Given the description of an element on the screen output the (x, y) to click on. 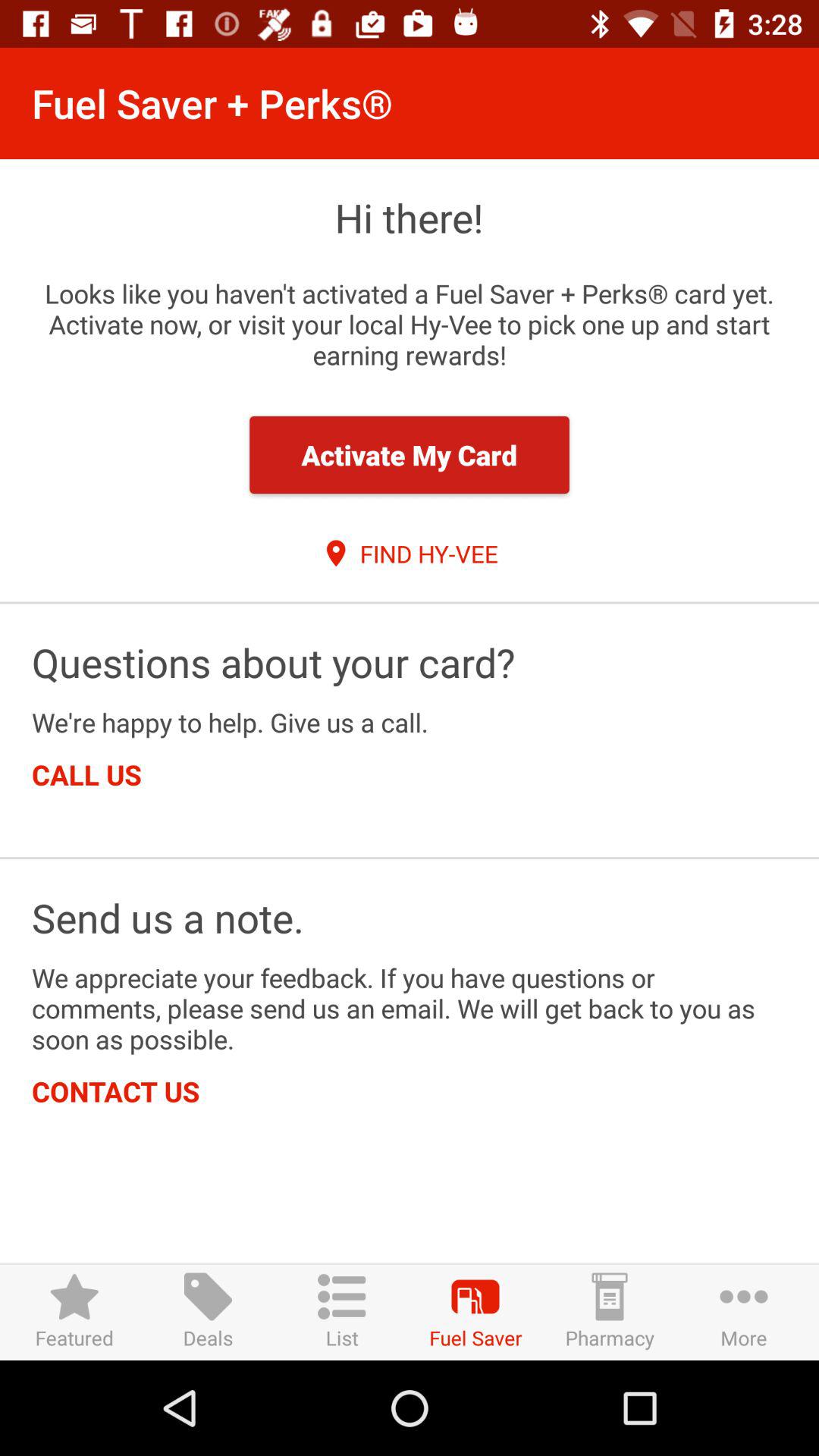
turn off the item next to the list icon (208, 1311)
